Given the description of an element on the screen output the (x, y) to click on. 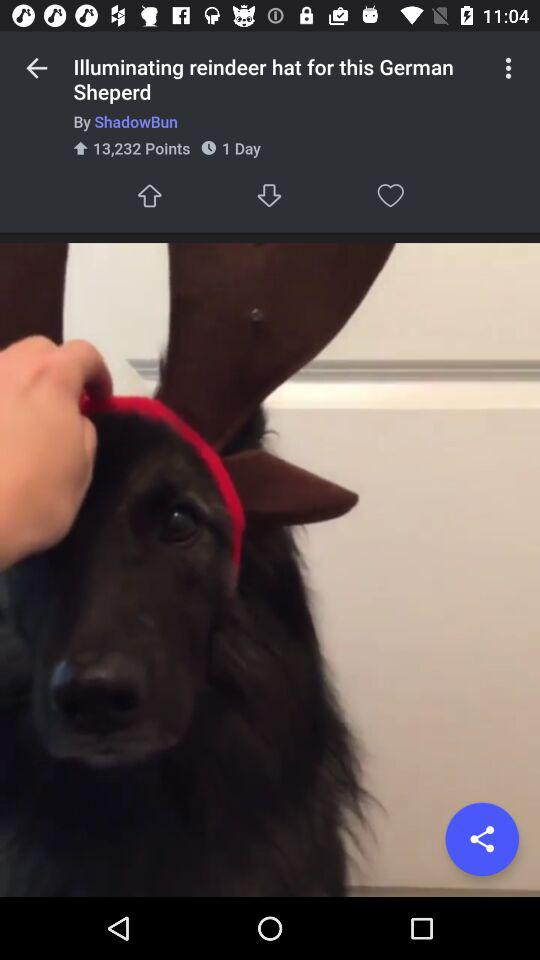
go up (149, 195)
